Given the description of an element on the screen output the (x, y) to click on. 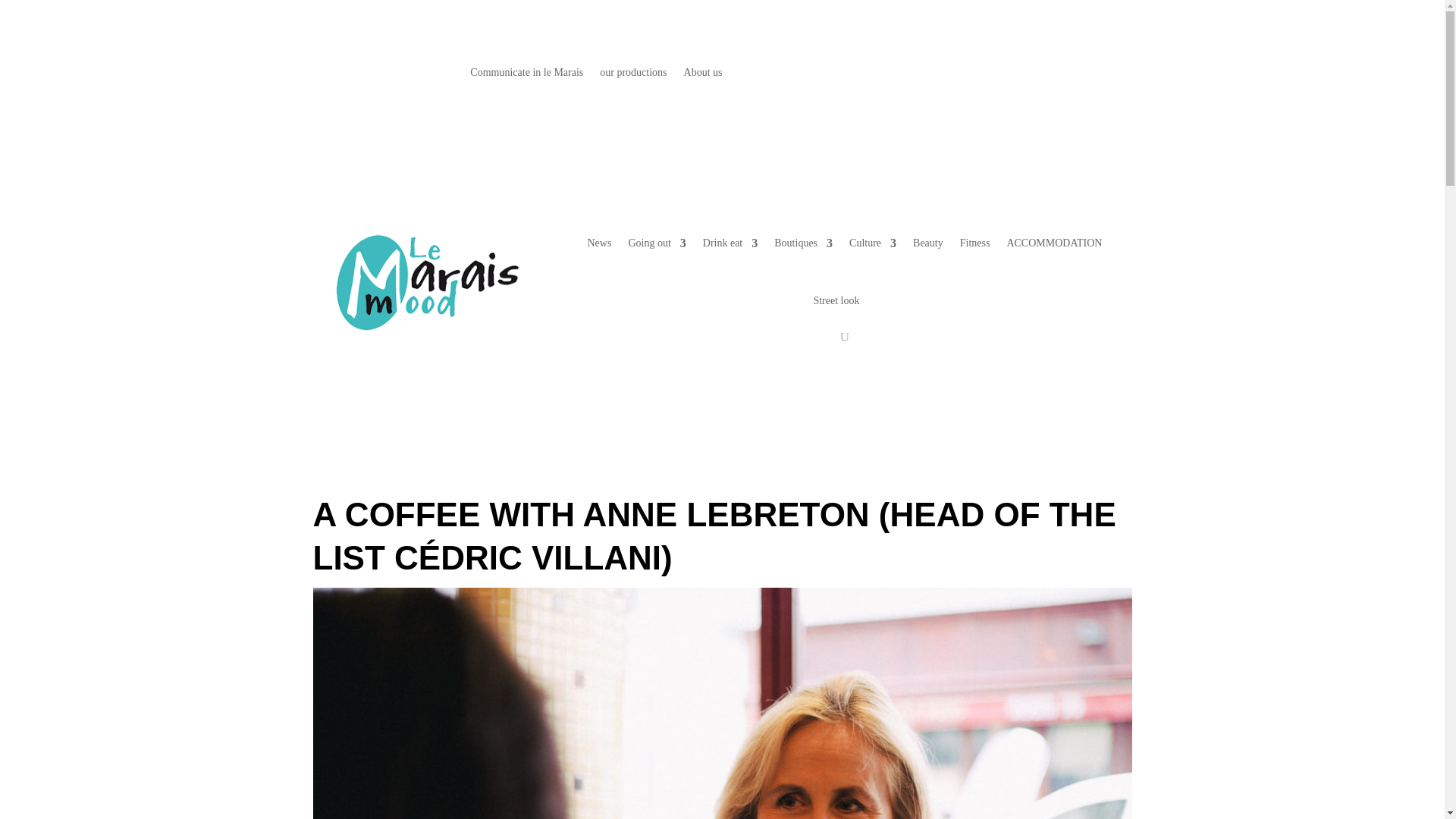
Going out (656, 242)
Follow on Facebook (1028, 73)
Follow on Instagram (1058, 73)
Follow on TikTok (1118, 73)
About us (703, 75)
ACCOMMODATION (1054, 242)
Follow on Youtube (1088, 73)
Drink eat (730, 242)
Boutiques (803, 242)
Communicate in le Marais (526, 75)
our productions (632, 75)
